Given the description of an element on the screen output the (x, y) to click on. 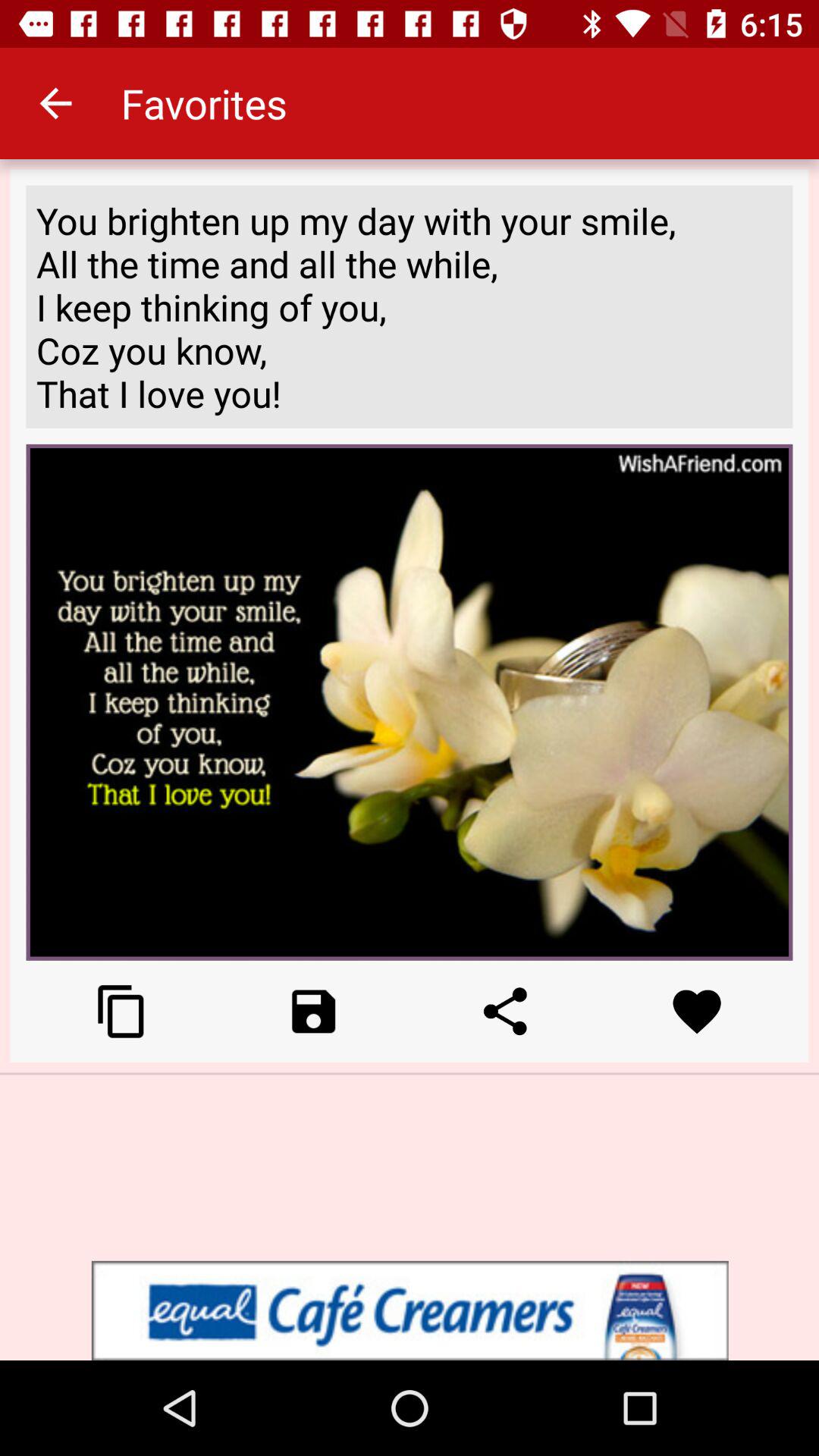
details about advertisement (409, 1310)
